Given the description of an element on the screen output the (x, y) to click on. 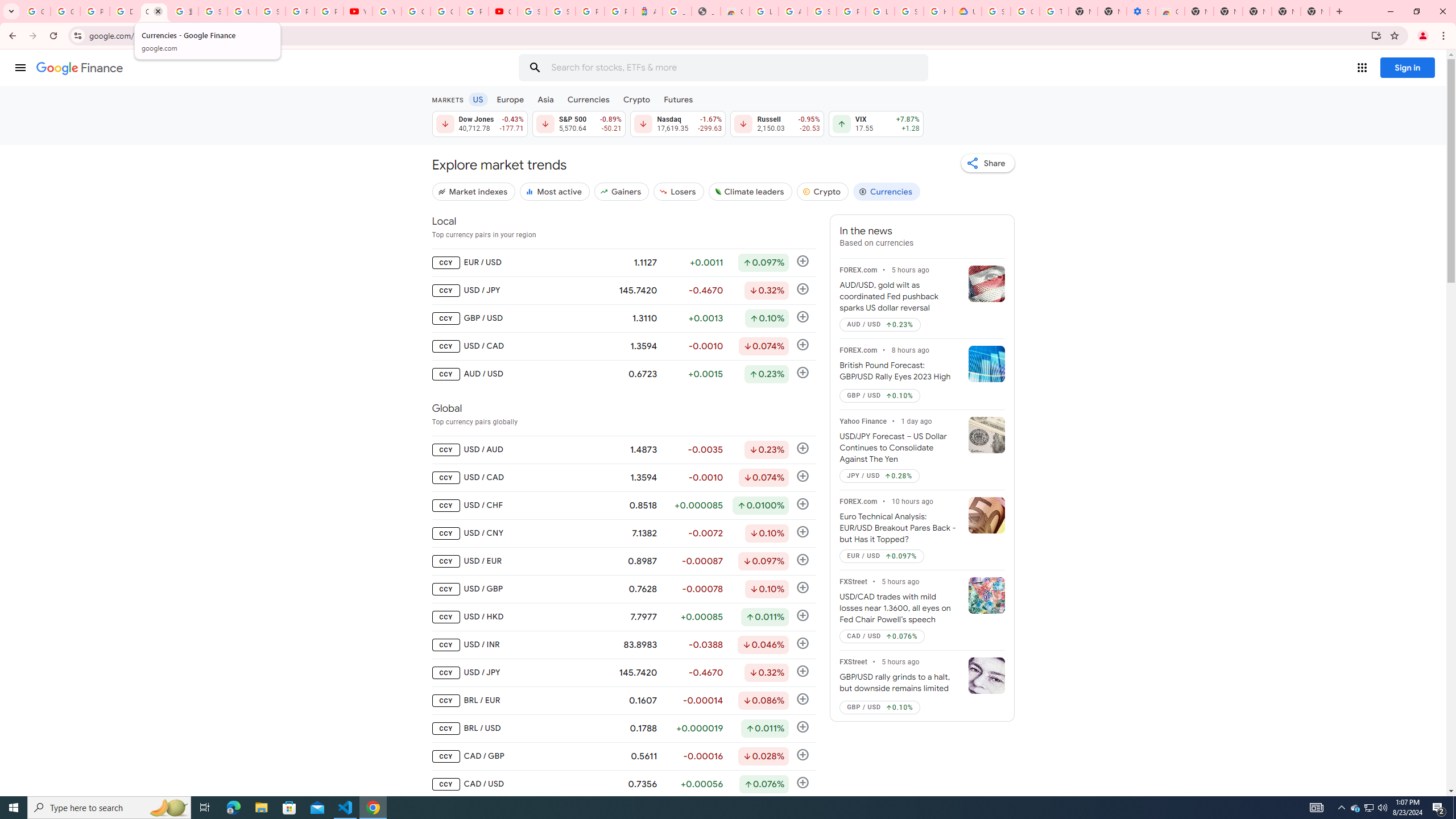
Turn cookies on or off - Computer - Google Account Help (1054, 11)
New Tab (1315, 11)
Address and search bar (726, 35)
Losers (678, 191)
CCY USD / EUR 0.8987 -0.00087 Down by 0.078% Follow (623, 560)
Currencies - Google Finance (153, 11)
CCY USD / JPY 145.7420 -0.4670 Down by 0.26% Follow (623, 672)
Google Account Help (415, 11)
CCY USD / CAD 1.3594 -0.0010 Down by 0.074% Follow (623, 477)
